Given the description of an element on the screen output the (x, y) to click on. 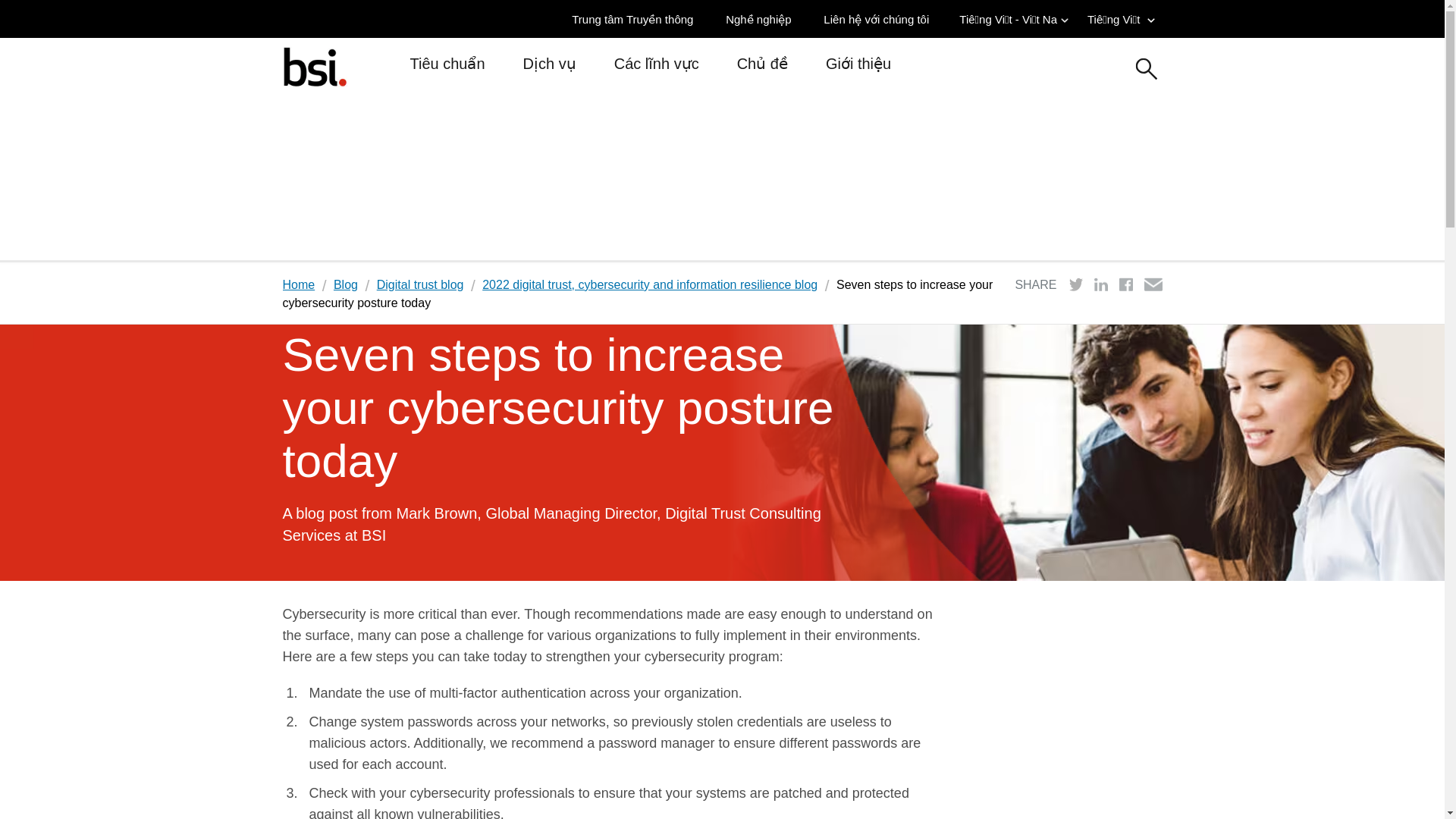
logo (314, 65)
